Given the description of an element on the screen output the (x, y) to click on. 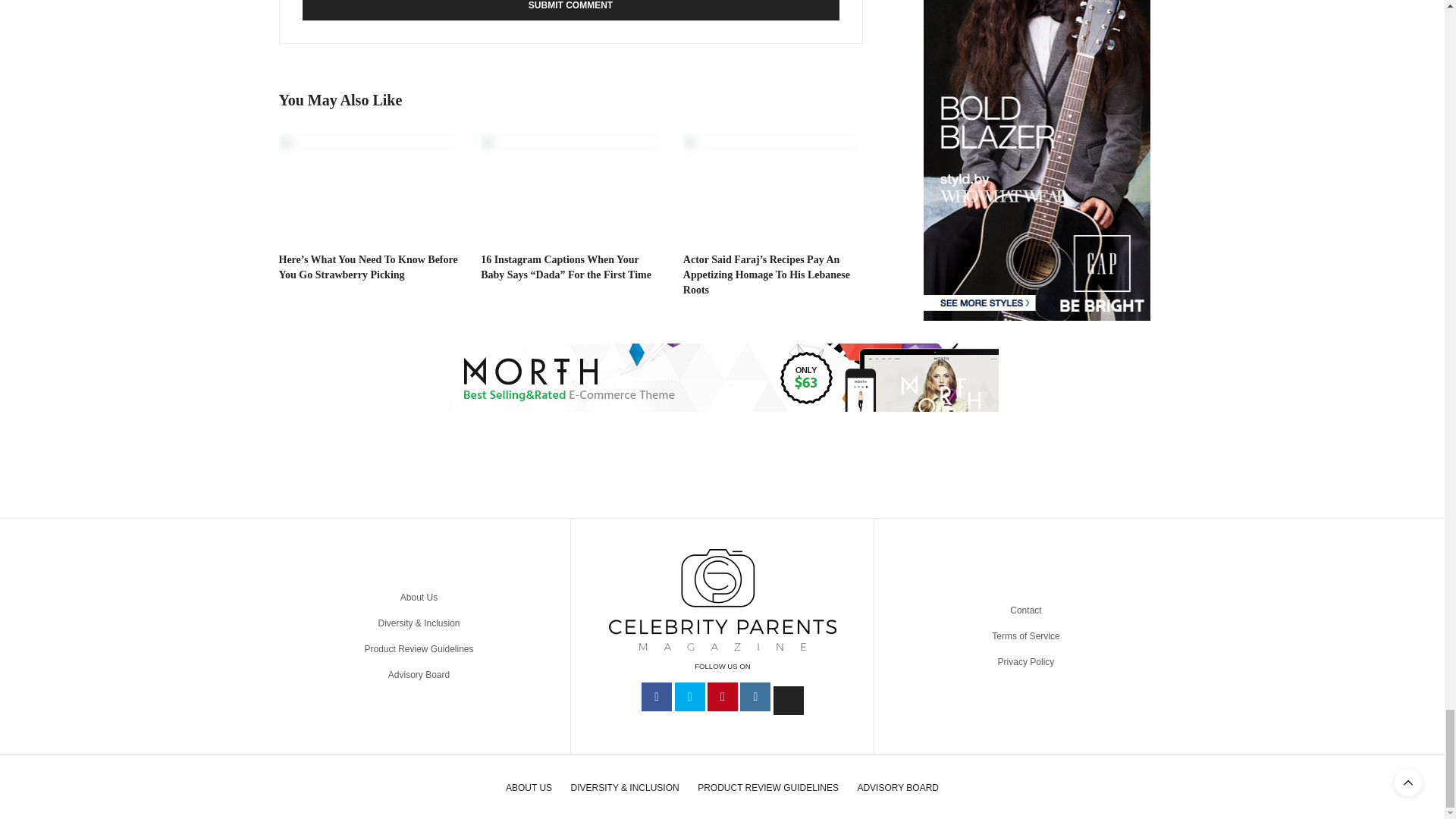
Submit Comment (569, 10)
